Given the description of an element on the screen output the (x, y) to click on. 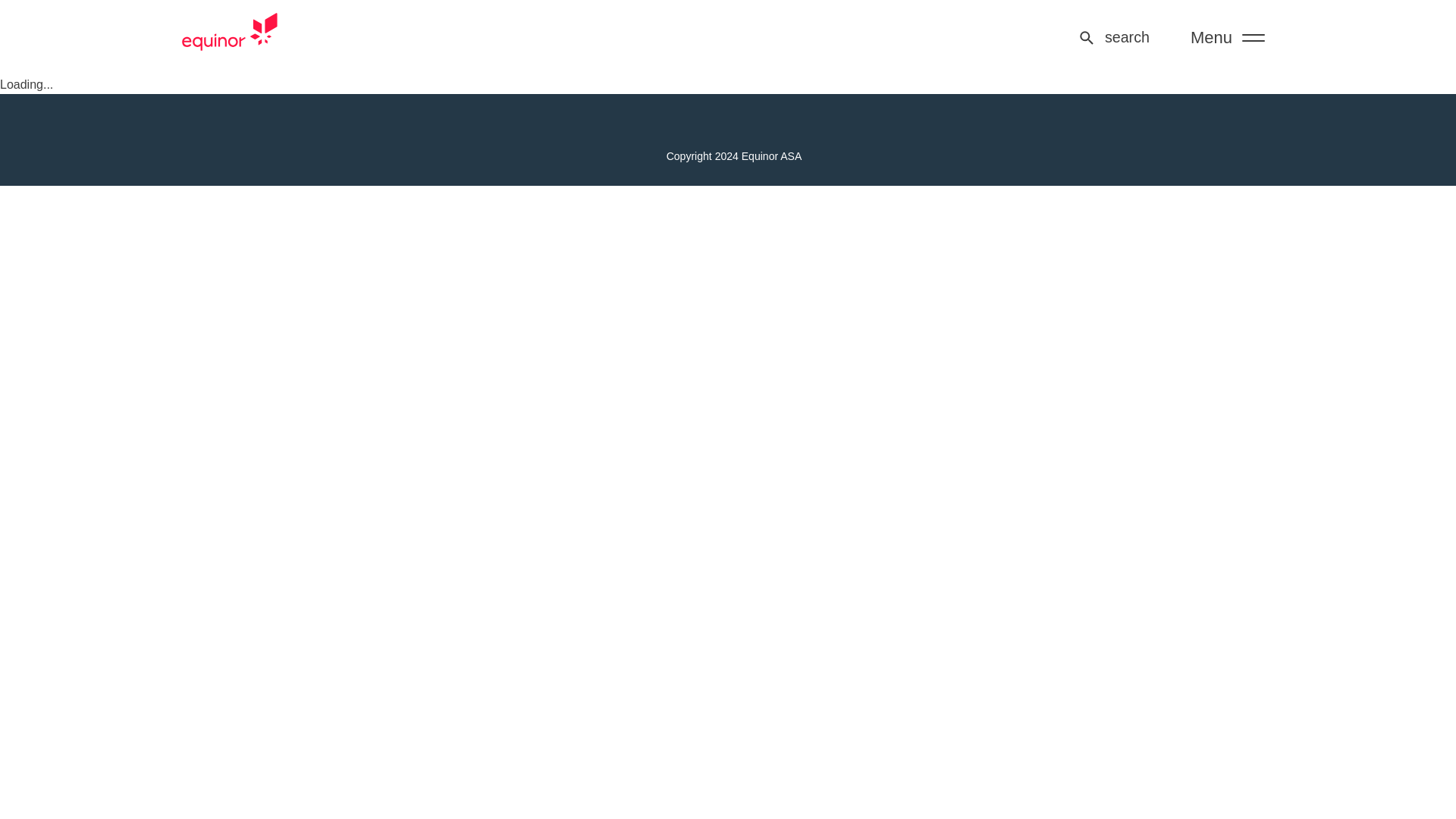
search (1113, 37)
Menu (1227, 37)
Skip to content (48, 83)
